Given the description of an element on the screen output the (x, y) to click on. 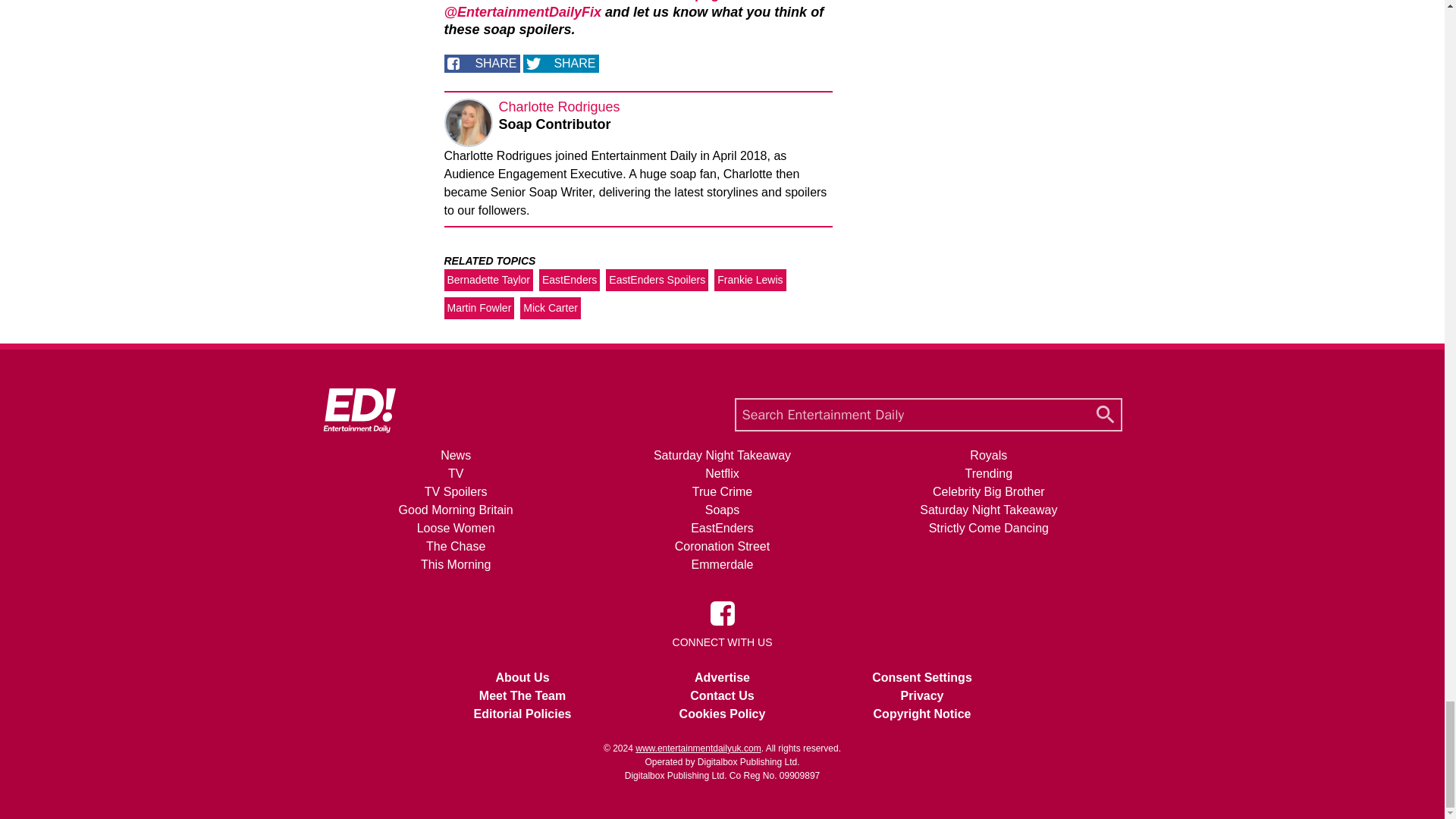
SHARE (481, 63)
SHARE (560, 63)
Charlotte Rodrigues (559, 106)
